Given the description of an element on the screen output the (x, y) to click on. 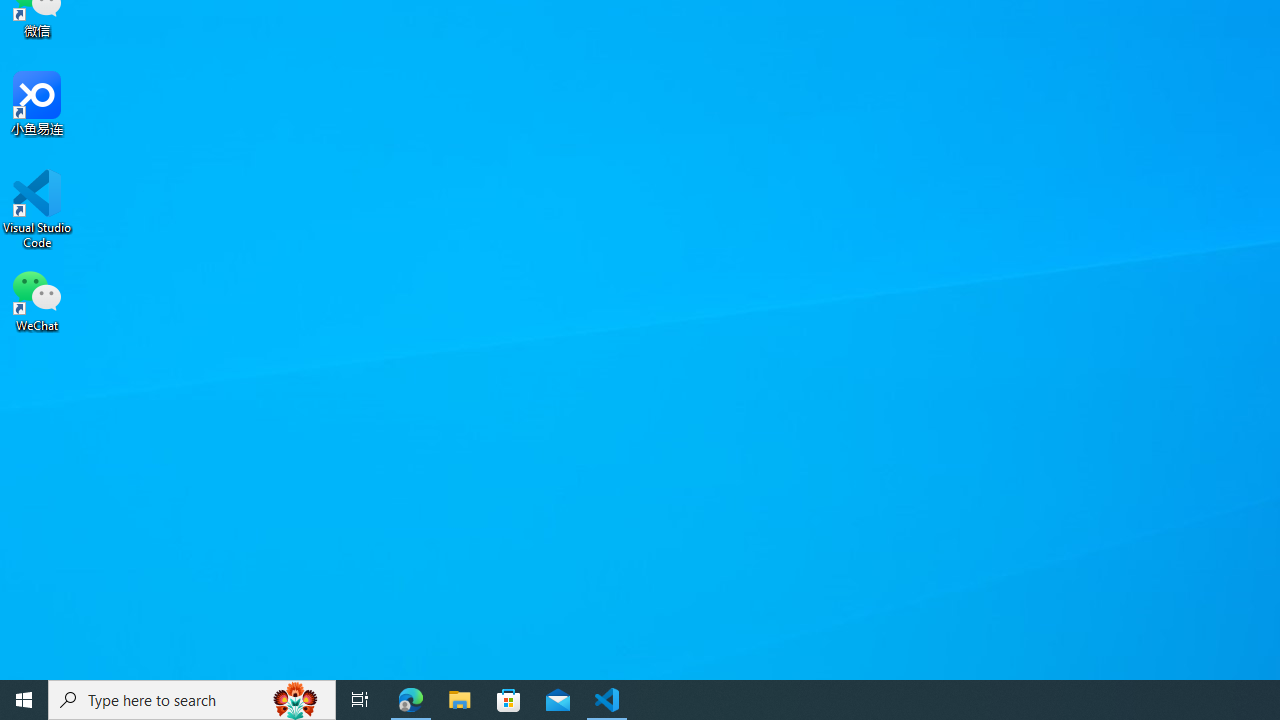
WeChat (37, 299)
Visual Studio Code (37, 209)
